Given the description of an element on the screen output the (x, y) to click on. 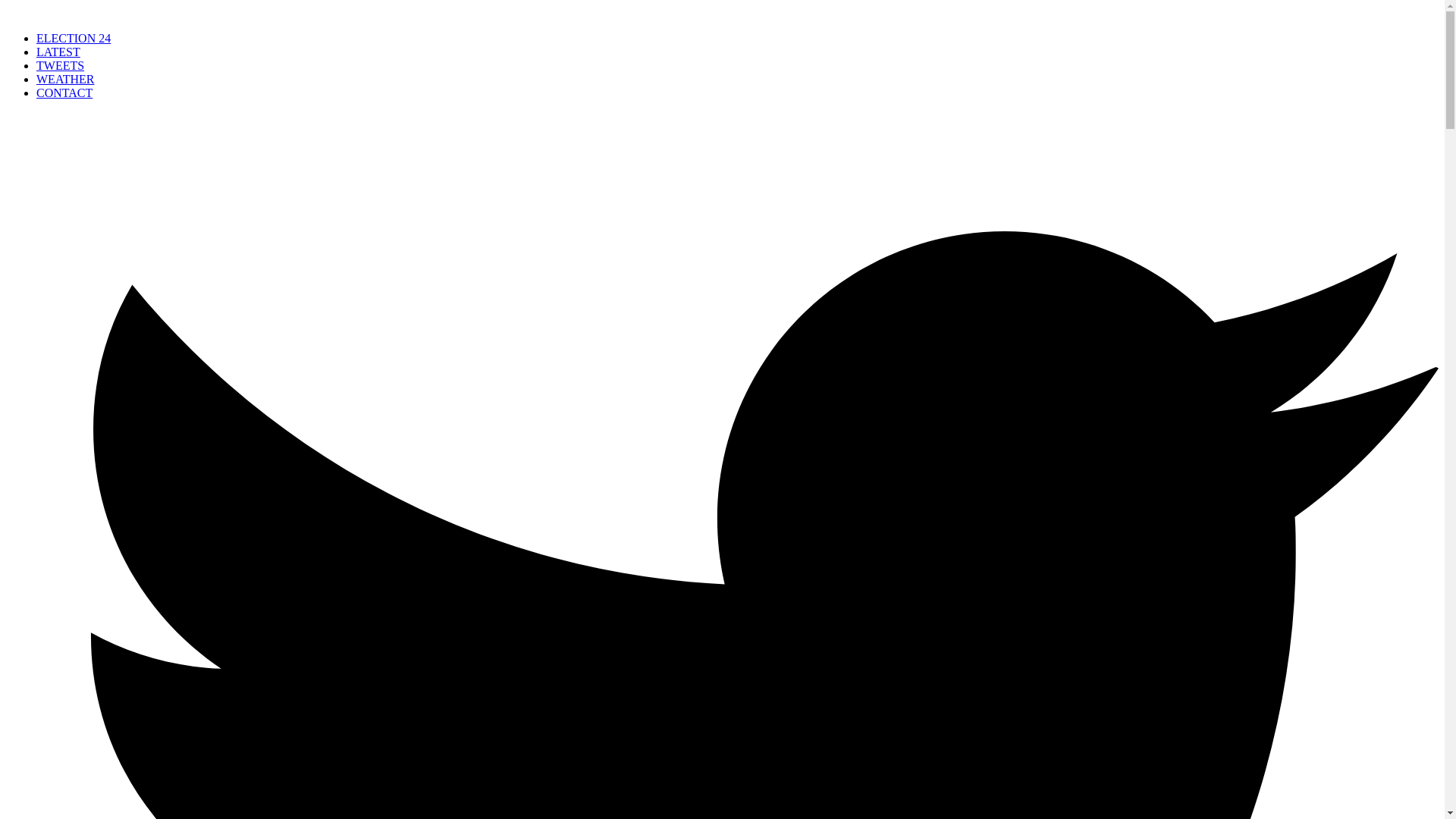
TWEETS (60, 65)
CONTACT (64, 92)
ELECTION 24 (73, 38)
WEATHER (65, 78)
LATEST (58, 51)
